Given the description of an element on the screen output the (x, y) to click on. 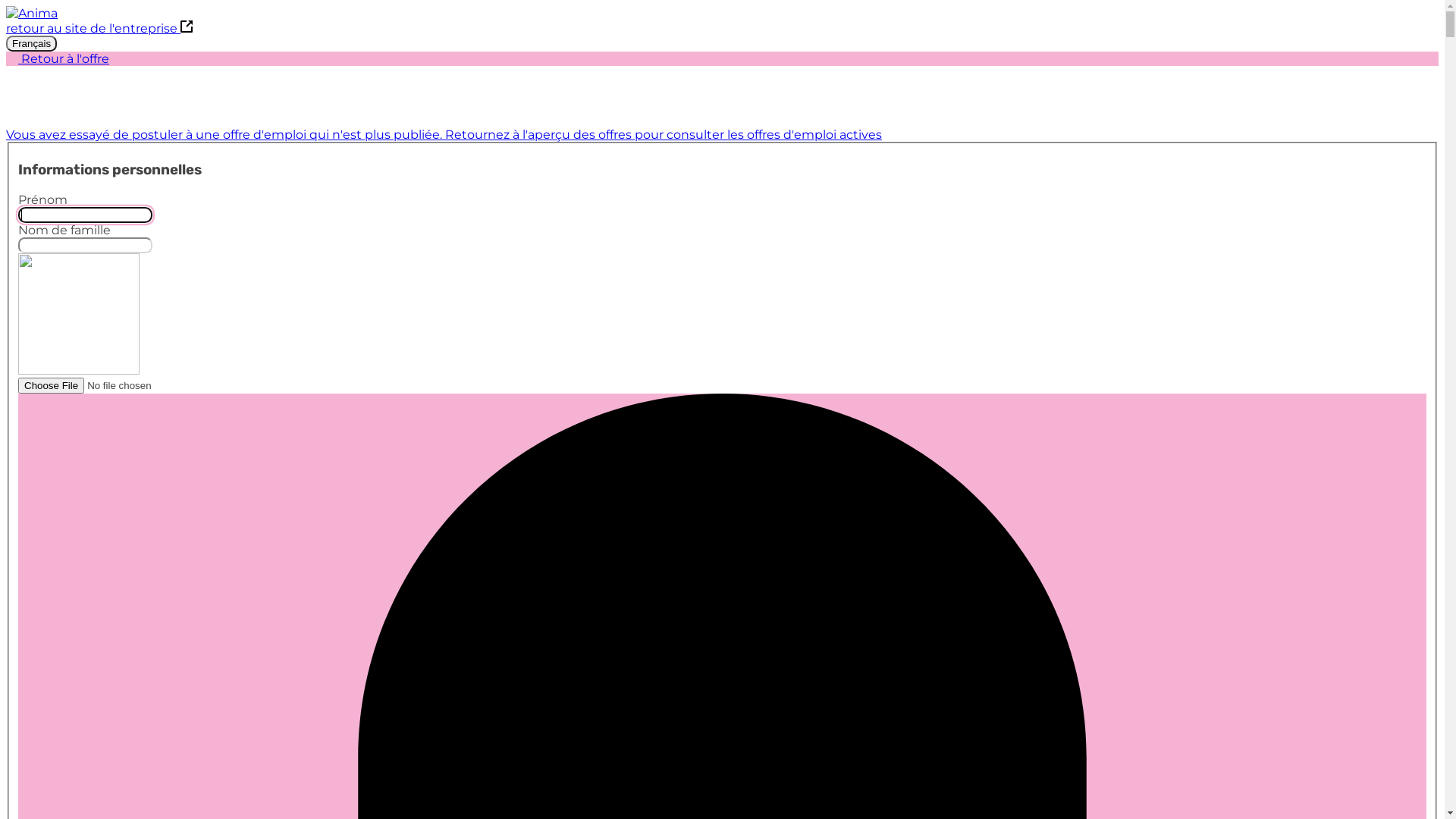
retour au site de l'entreprise Element type: text (99, 28)
